Given the description of an element on the screen output the (x, y) to click on. 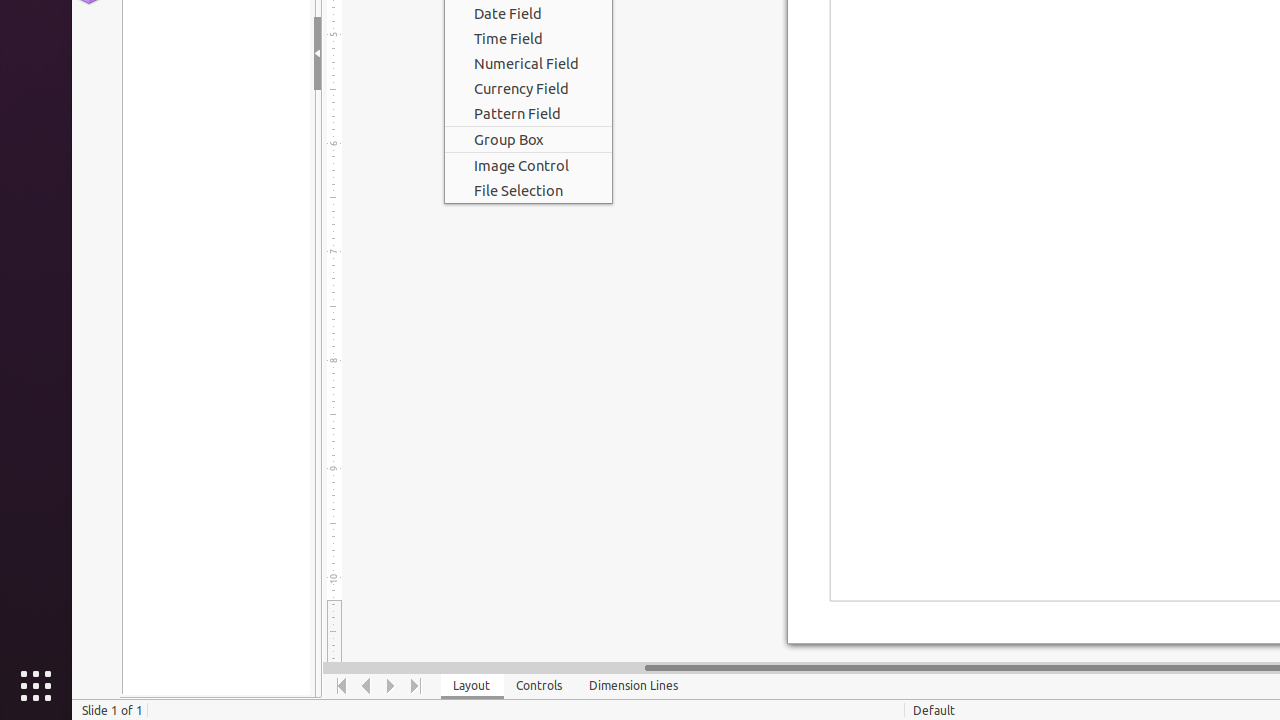
Controls Element type: page-tab (540, 686)
Time Field Element type: check-menu-item (528, 38)
Numerical Field Element type: check-menu-item (528, 63)
Currency Field Element type: check-menu-item (528, 88)
Layout Element type: page-tab (472, 686)
